Given the description of an element on the screen output the (x, y) to click on. 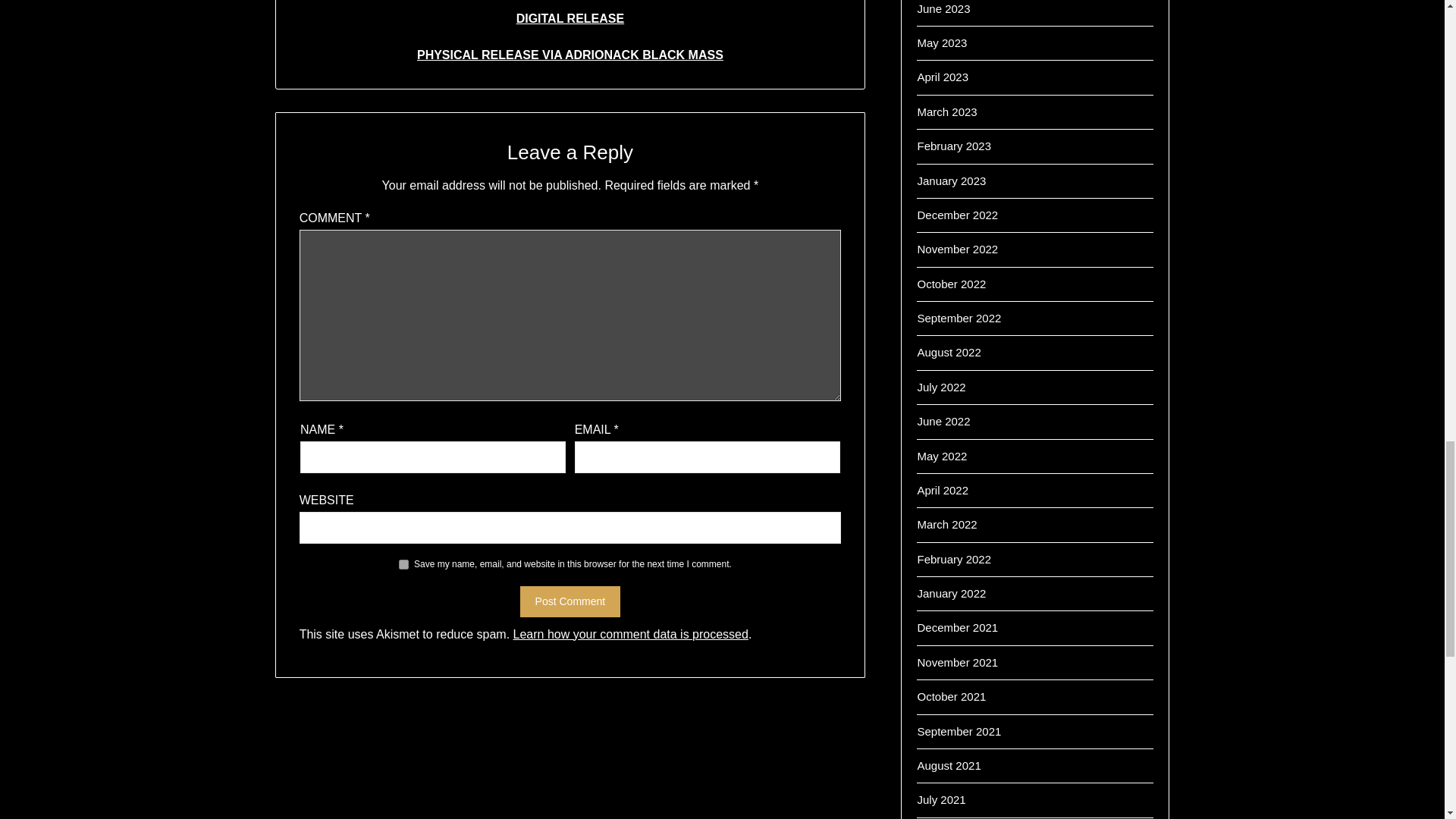
PHYSICAL RELEASE VIA ADRIONACK BLACK MASS (569, 54)
yes (403, 564)
Learn how your comment data is processed (630, 634)
Post Comment (570, 601)
Post Comment (570, 601)
DIGITAL RELEASE (570, 18)
